Given the description of an element on the screen output the (x, y) to click on. 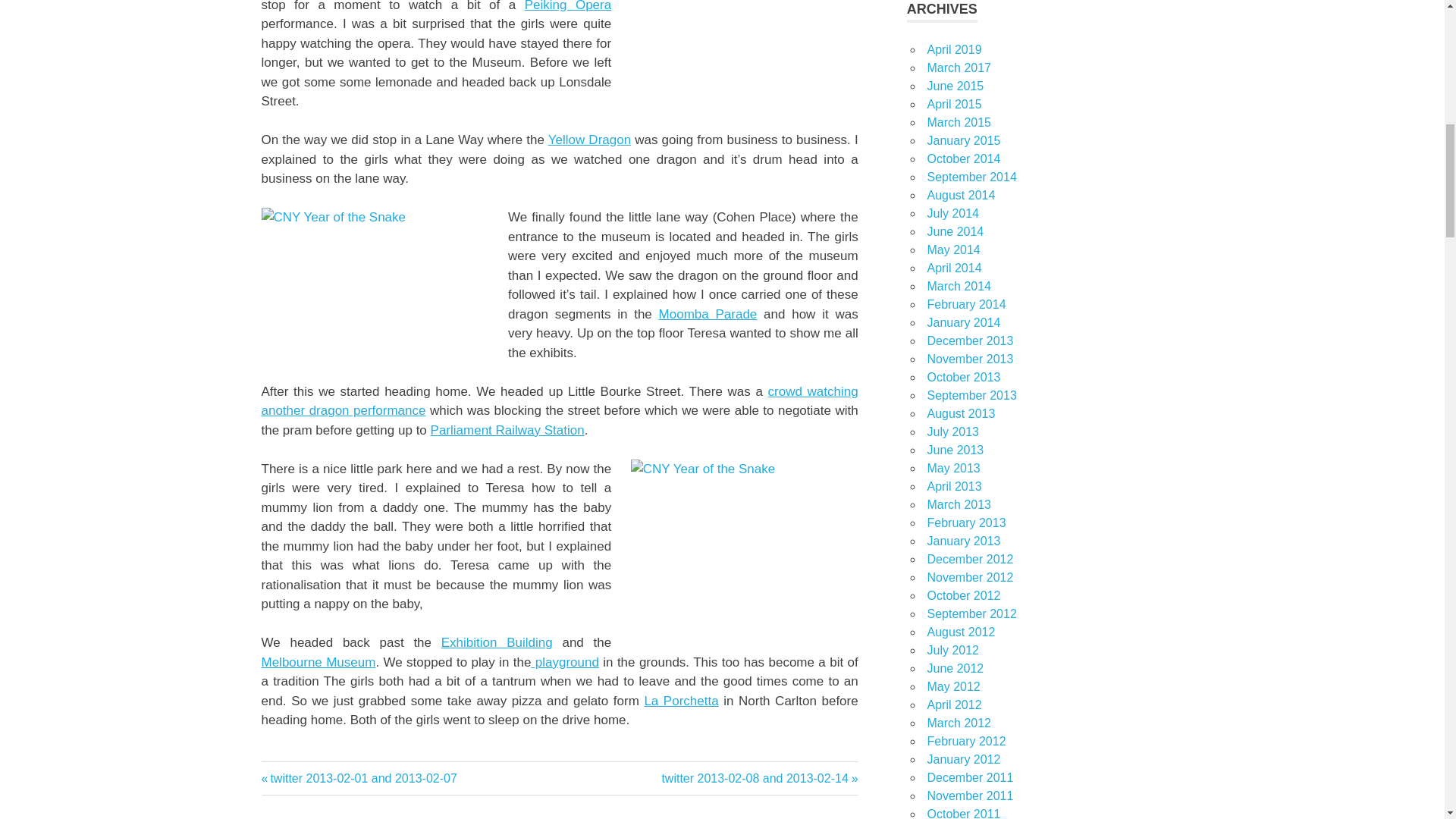
Yellow Dragon (589, 139)
La Porchetta (680, 699)
playground (358, 778)
Melbourne Museum (564, 662)
Exhibition Building (317, 662)
2013 (497, 642)
crowd watching another dragon performance (277, 771)
Parliament Railway Station (558, 400)
Peiking Opera (507, 430)
